Given the description of an element on the screen output the (x, y) to click on. 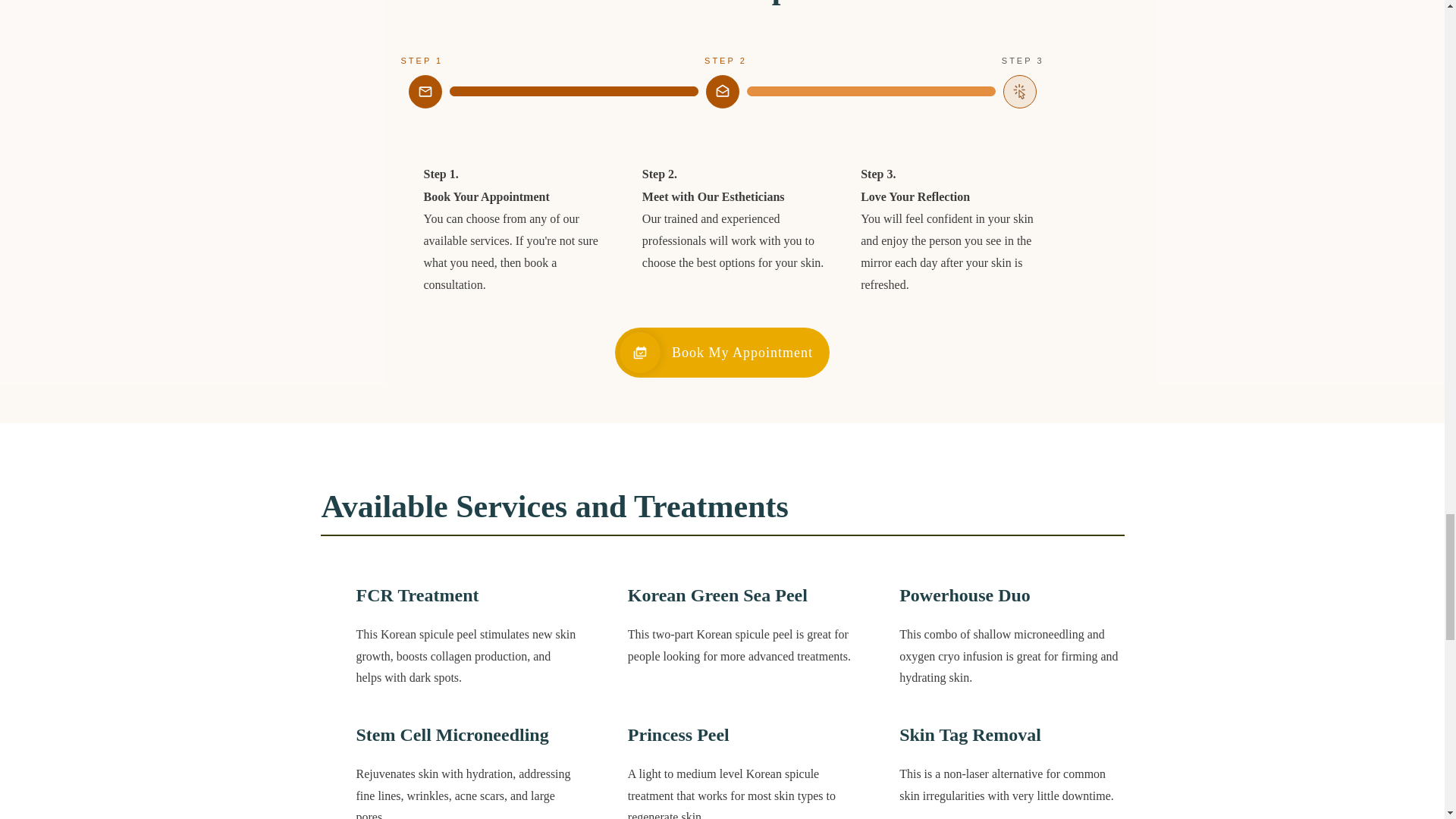
Book My Appointment (721, 352)
